Given the description of an element on the screen output the (x, y) to click on. 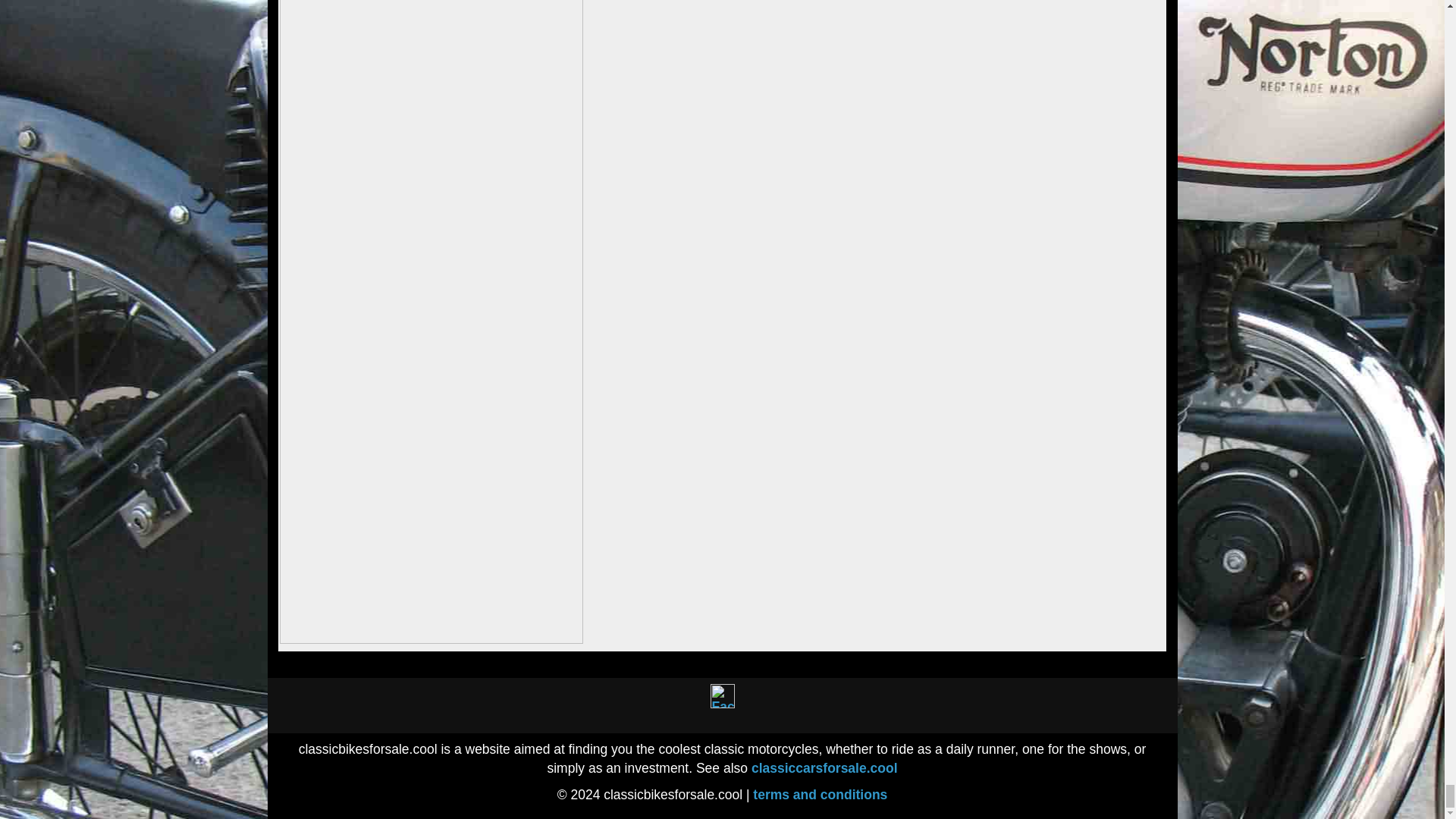
Follow us on Facebook (721, 695)
